Given the description of an element on the screen output the (x, y) to click on. 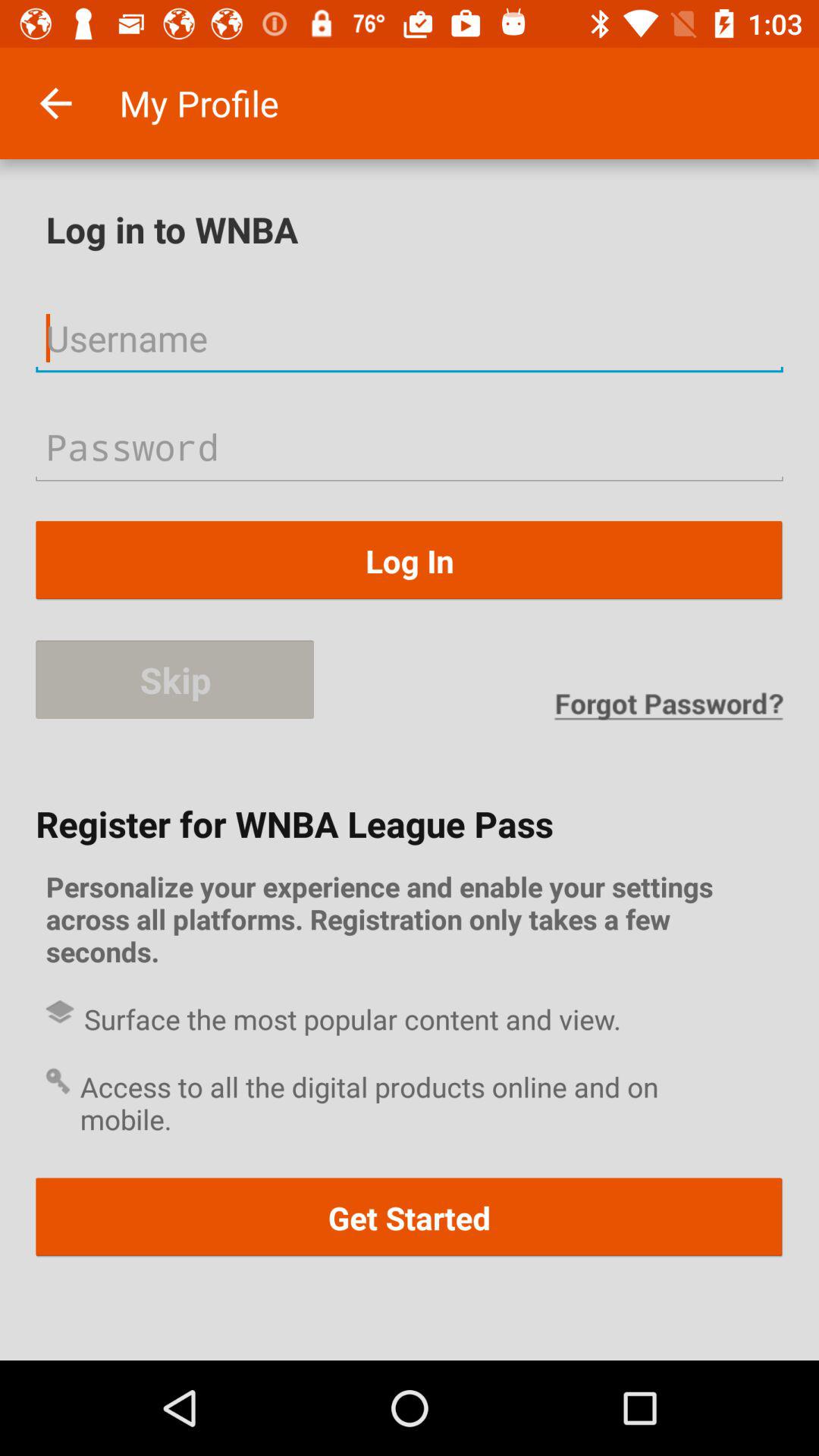
turn off the item to the left of the my profile icon (55, 103)
